Given the description of an element on the screen output the (x, y) to click on. 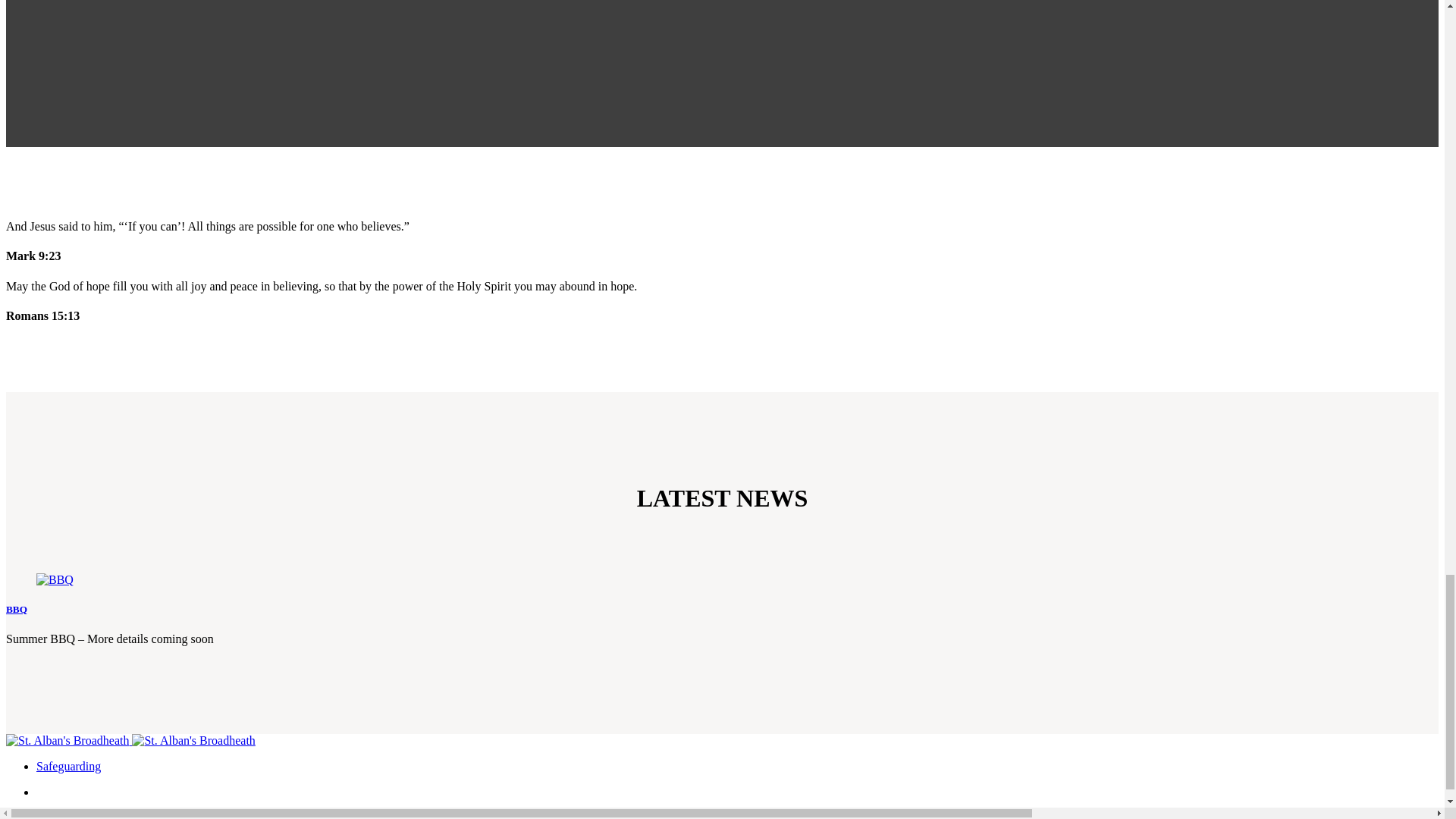
BBQ (55, 580)
Safeguarding (68, 766)
BBQ (55, 579)
BBQ (16, 609)
St. Alban's Broadheath (130, 739)
